Given the description of an element on the screen output the (x, y) to click on. 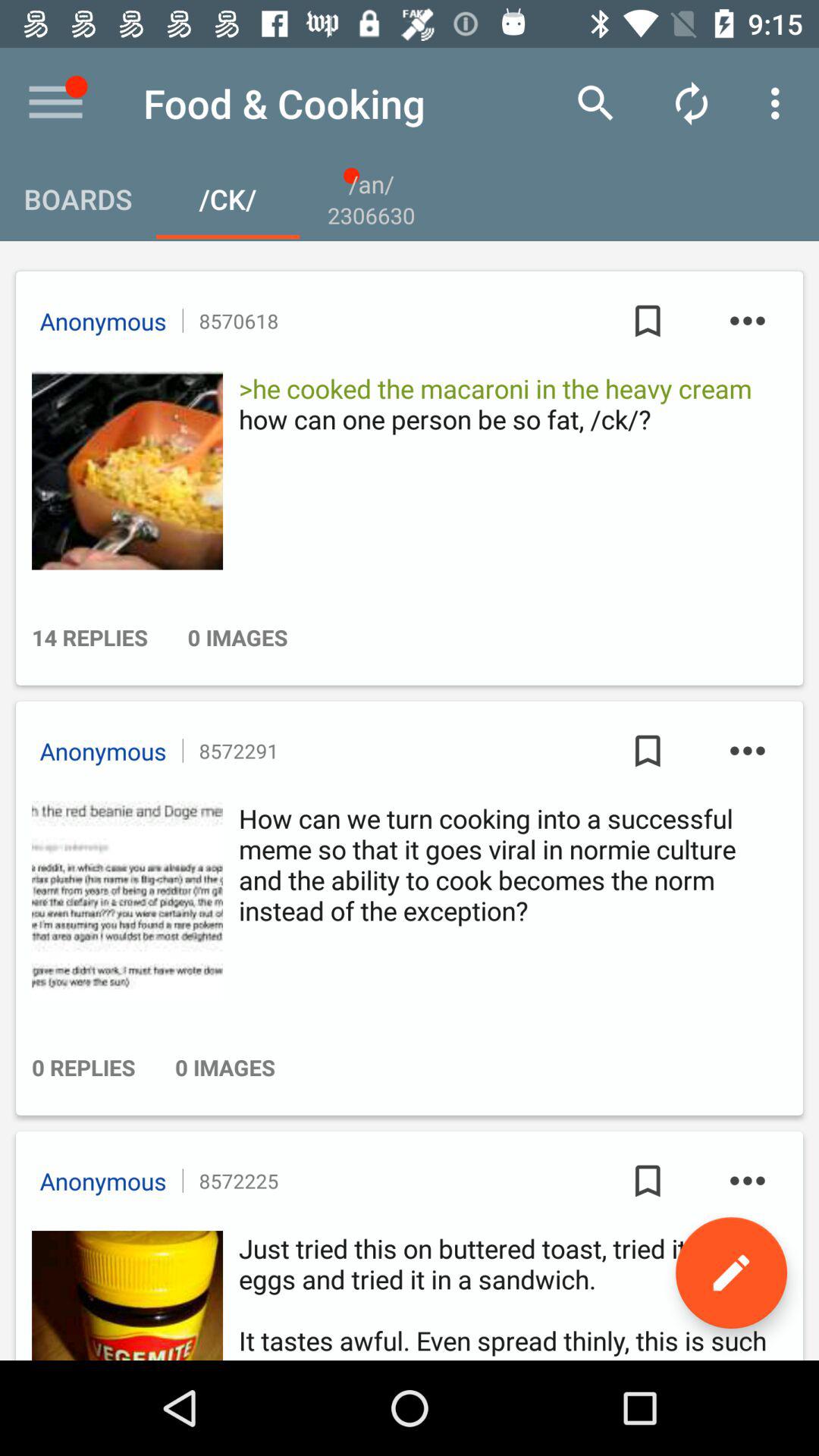
view post (122, 899)
